Given the description of an element on the screen output the (x, y) to click on. 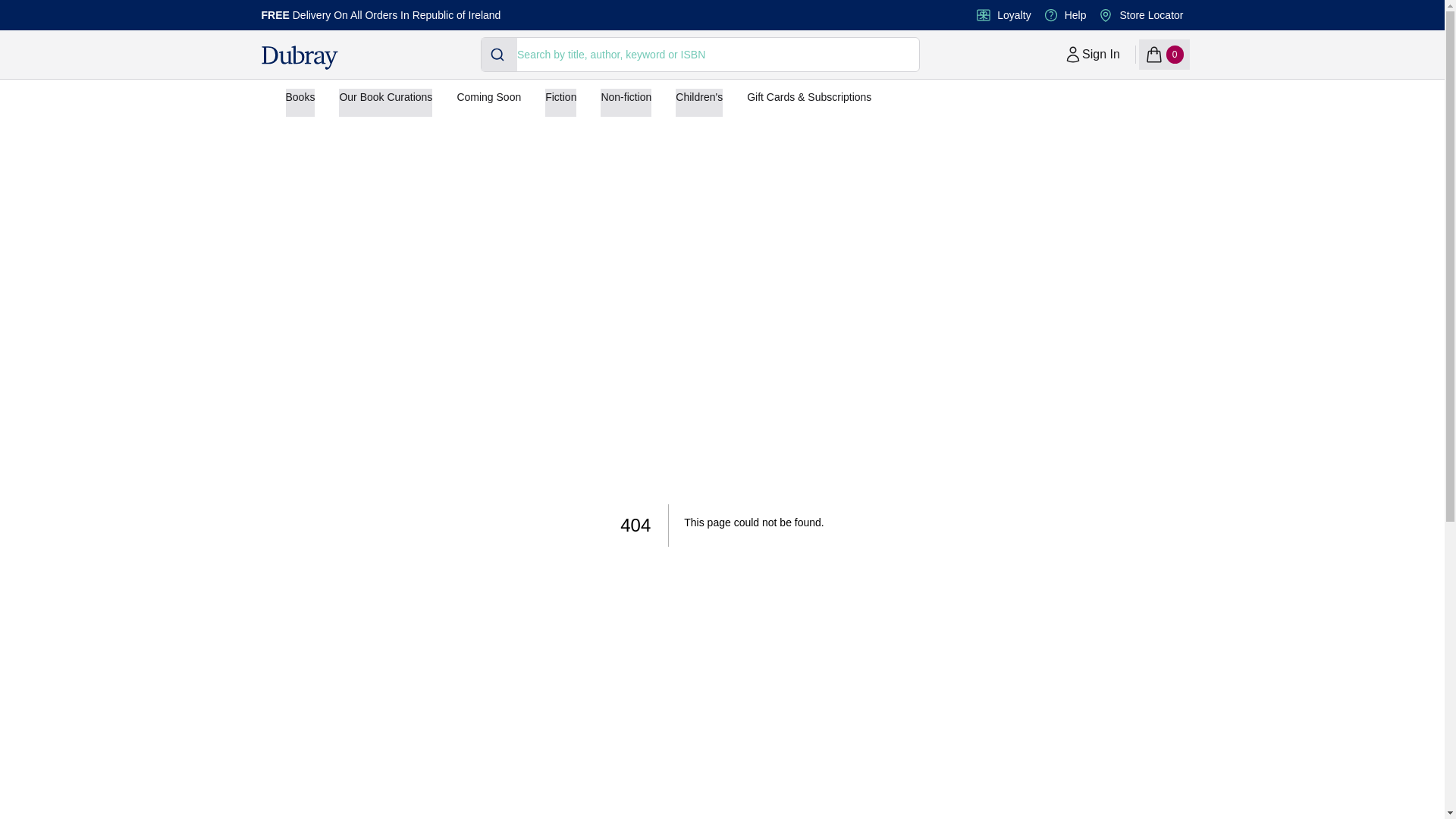
Non-fiction (624, 102)
Help (1075, 14)
Books (299, 102)
Children's (698, 102)
Fiction (560, 102)
Our Book Curations (385, 102)
Submit (1091, 54)
Dubray Books (498, 54)
